Given the description of an element on the screen output the (x, y) to click on. 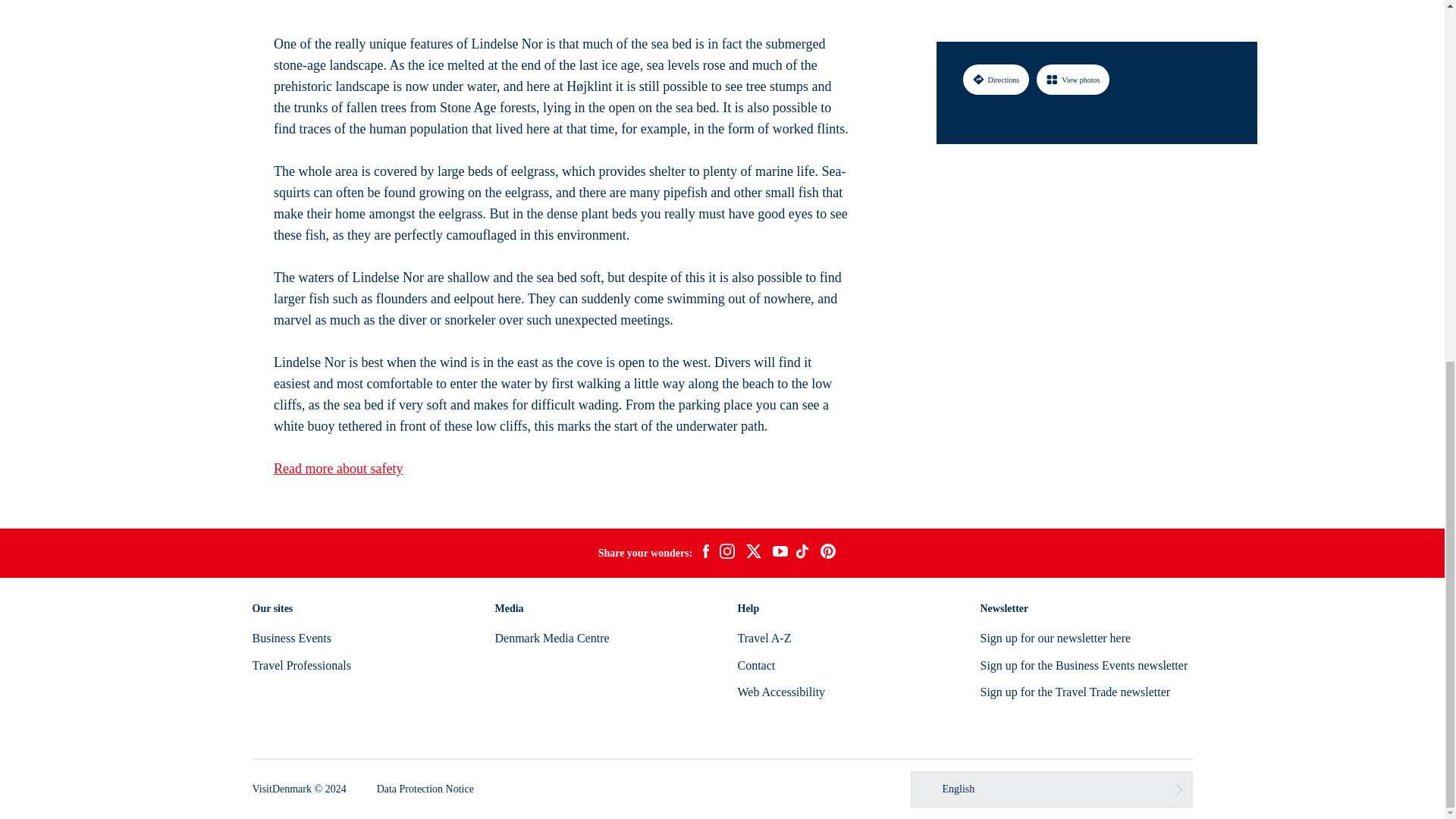
Denmark Media Centre (551, 637)
twitter (753, 553)
Data Protection Notice (425, 789)
facebook (705, 553)
Sign up for the Business Events newsletter (1083, 665)
instagram (726, 553)
Sign up for the Travel Trade newsletter (1074, 691)
Web Accessibility (780, 691)
tiktok (804, 553)
Business Events (290, 637)
Contact (755, 665)
Data Protection Notice (425, 789)
Contact (755, 665)
Sign up for our newsletter here (1055, 637)
Business Events (290, 637)
